Given the description of an element on the screen output the (x, y) to click on. 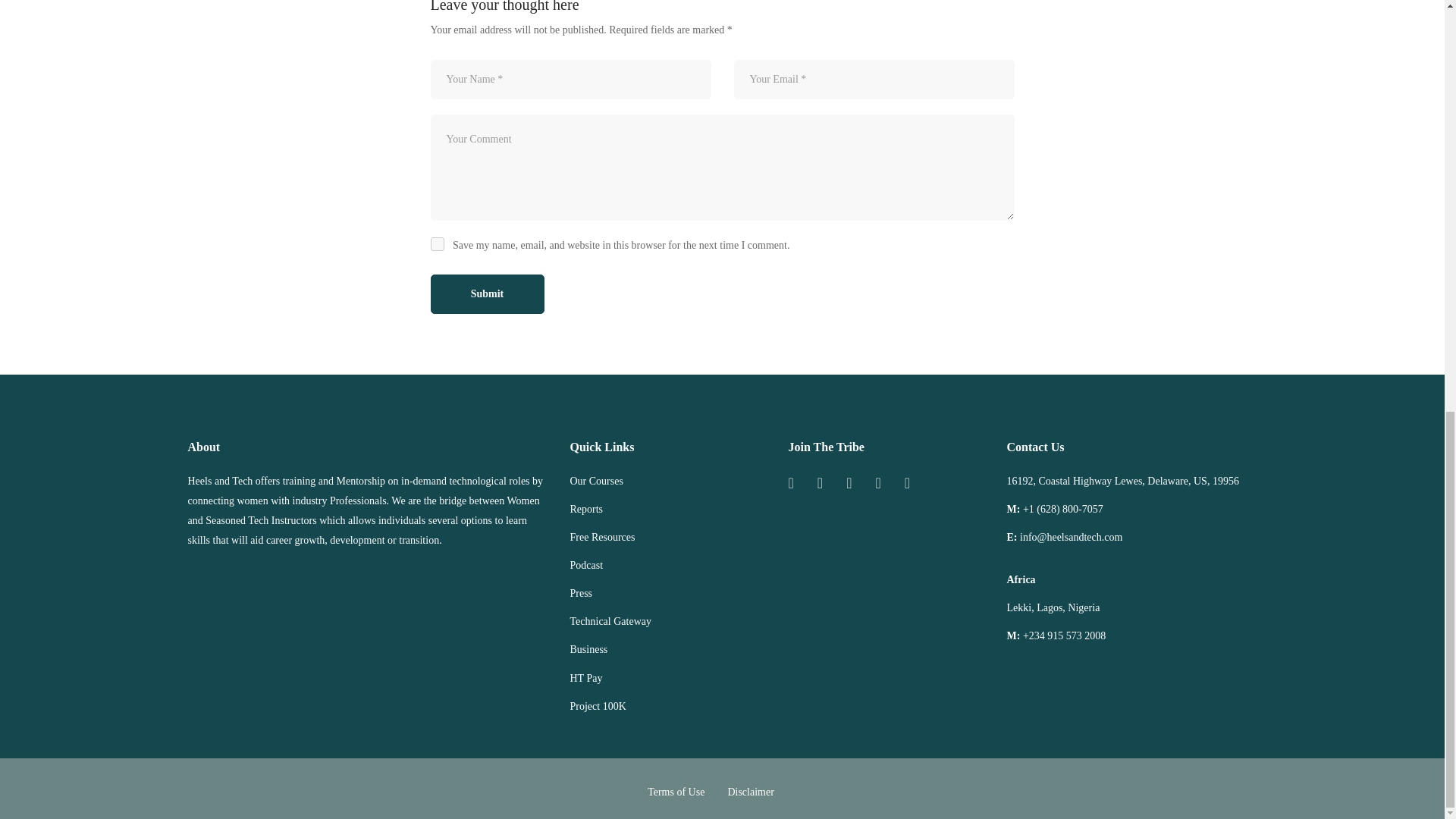
Business (589, 649)
Submit (487, 293)
Free Resources (602, 537)
Our Courses (596, 481)
Press (581, 593)
yes (437, 243)
Submit (487, 293)
Podcast (587, 565)
Reports (587, 509)
